Given the description of an element on the screen output the (x, y) to click on. 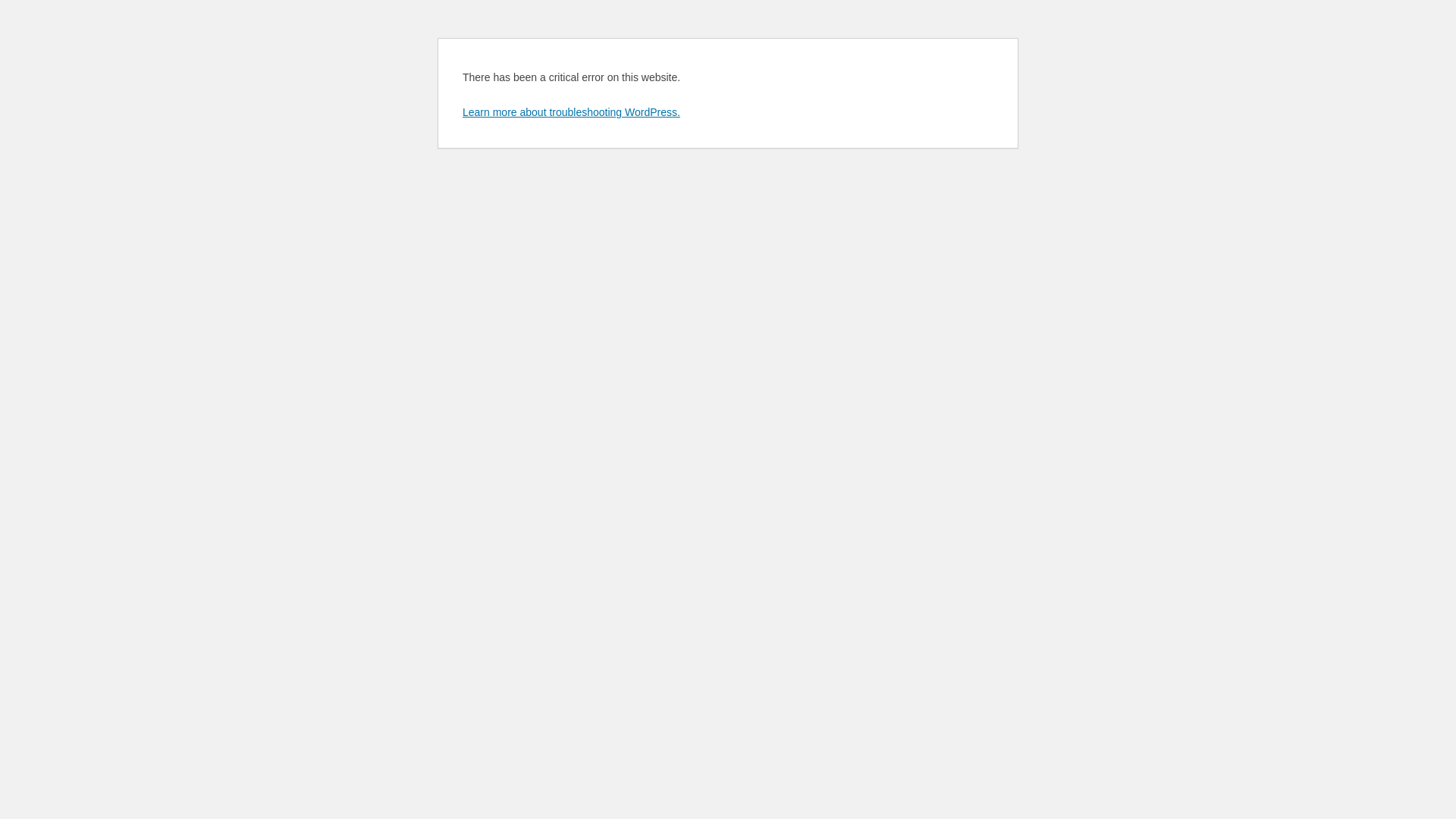
Learn more about troubleshooting WordPress. Element type: text (571, 112)
